Given the description of an element on the screen output the (x, y) to click on. 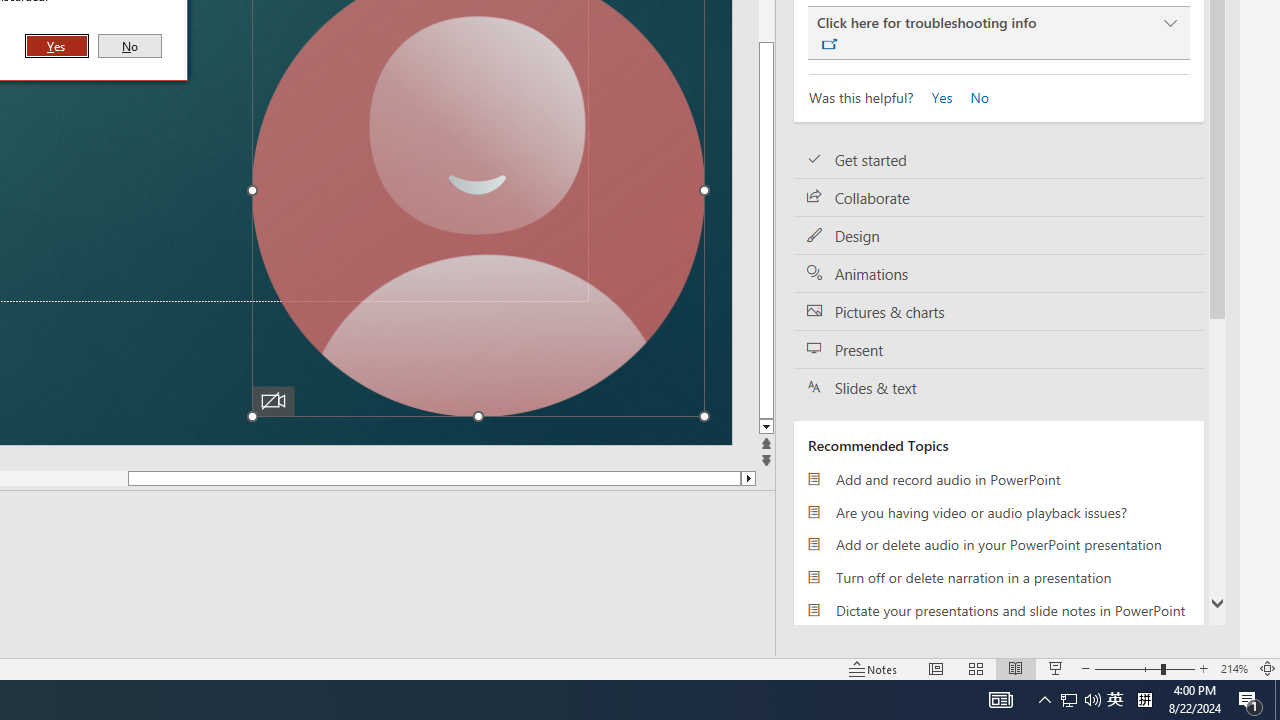
Collaborate (998, 197)
Add and record audio in PowerPoint (998, 479)
Add or delete audio in your PowerPoint presentation (998, 544)
Dictate your presentations and slide notes in PowerPoint (998, 610)
Pictures & charts (998, 312)
Yes (57, 45)
Are you having video or audio playback issues? (998, 512)
